Given the description of an element on the screen output the (x, y) to click on. 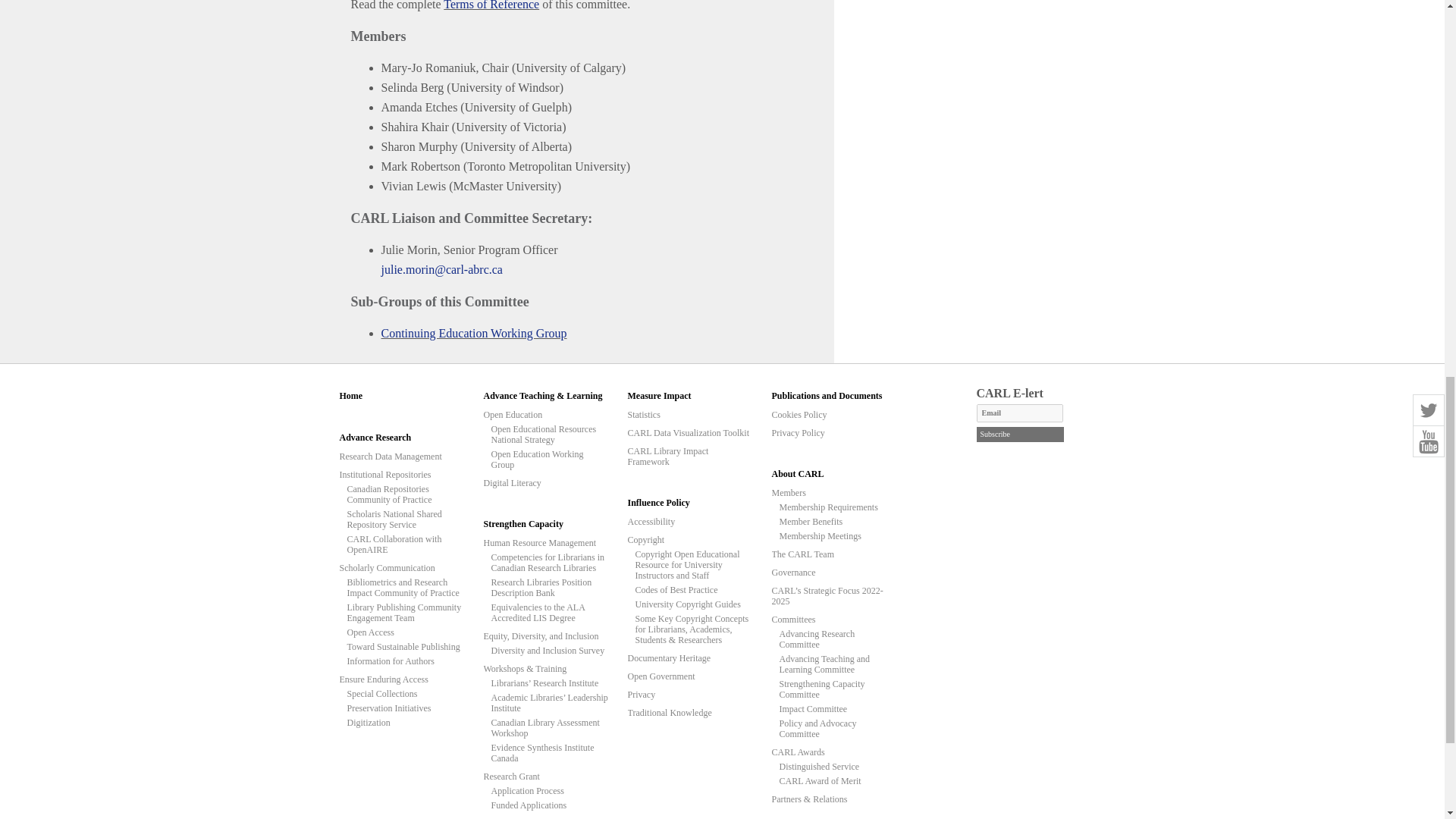
Subscribe (1020, 434)
